Given the description of an element on the screen output the (x, y) to click on. 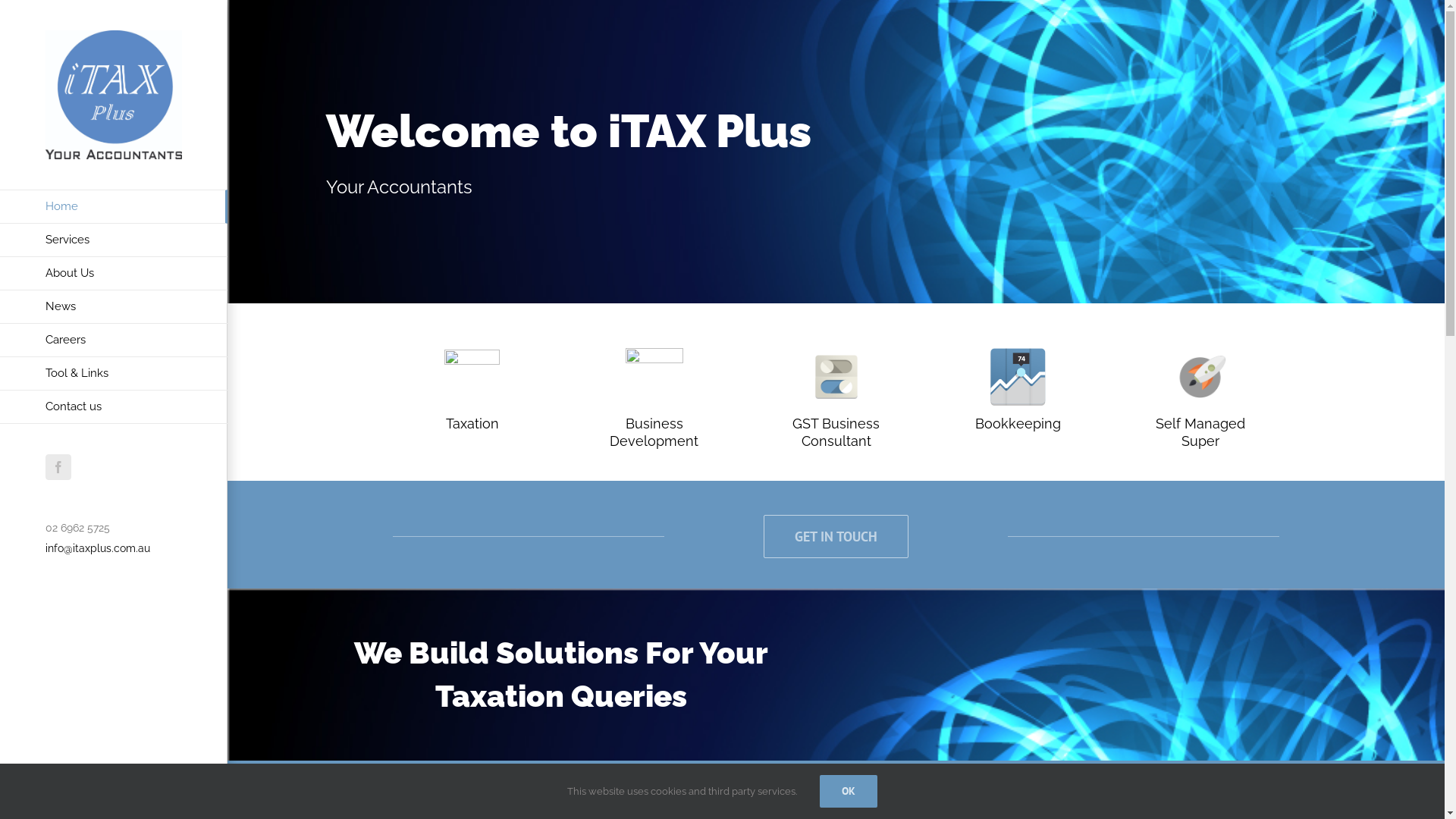
Tool & Links Element type: text (113, 373)
Facebook Element type: text (58, 467)
Taxation Element type: text (471, 423)
Services Element type: text (113, 240)
Bookkeeping Element type: text (1017, 423)
About Us Element type: text (113, 273)
info@itaxplus.com.au Element type: text (97, 548)
OK Element type: text (848, 791)
Business Development Element type: text (653, 431)
Contact us Element type: text (113, 406)
Self Managed Super Element type: text (1199, 431)
Careers Element type: text (113, 340)
News Element type: text (113, 306)
Home Element type: text (113, 206)
GST Business Consultant Element type: text (835, 431)
GET IN TOUCH Element type: text (835, 536)
